Given the description of an element on the screen output the (x, y) to click on. 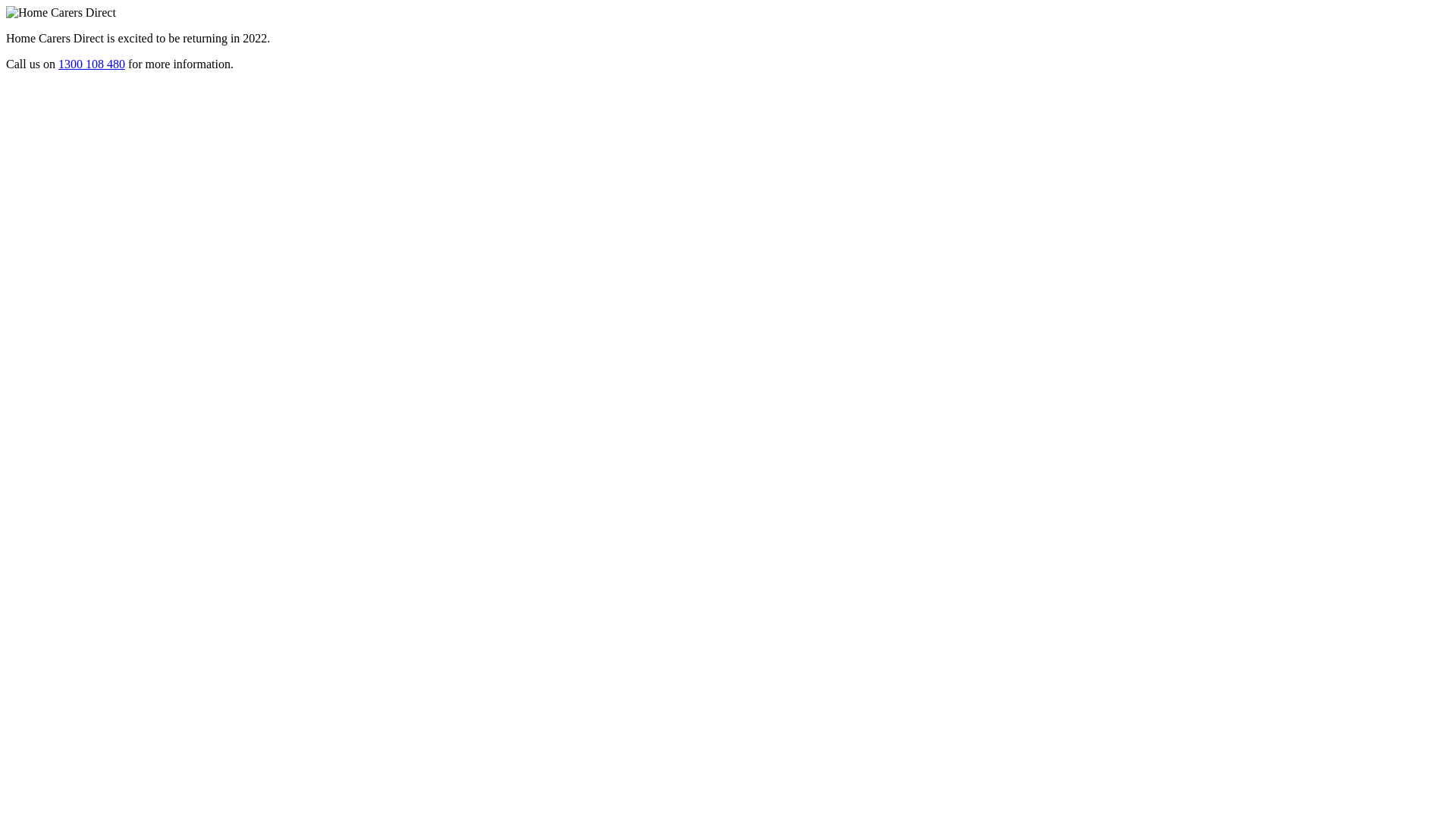
1300 108 480 Element type: text (91, 63)
